Given the description of an element on the screen output the (x, y) to click on. 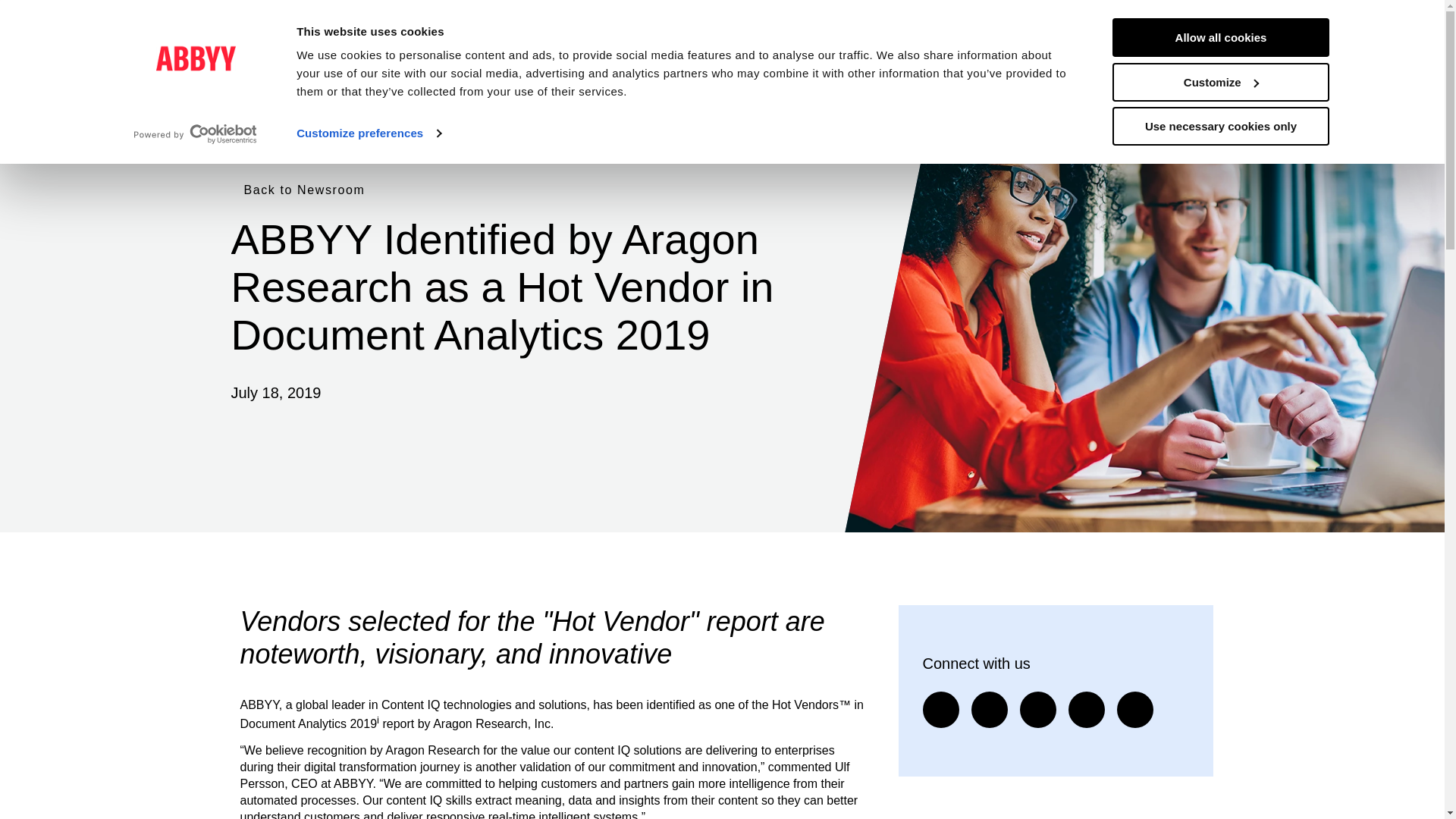
Customize preferences (369, 133)
